Given the description of an element on the screen output the (x, y) to click on. 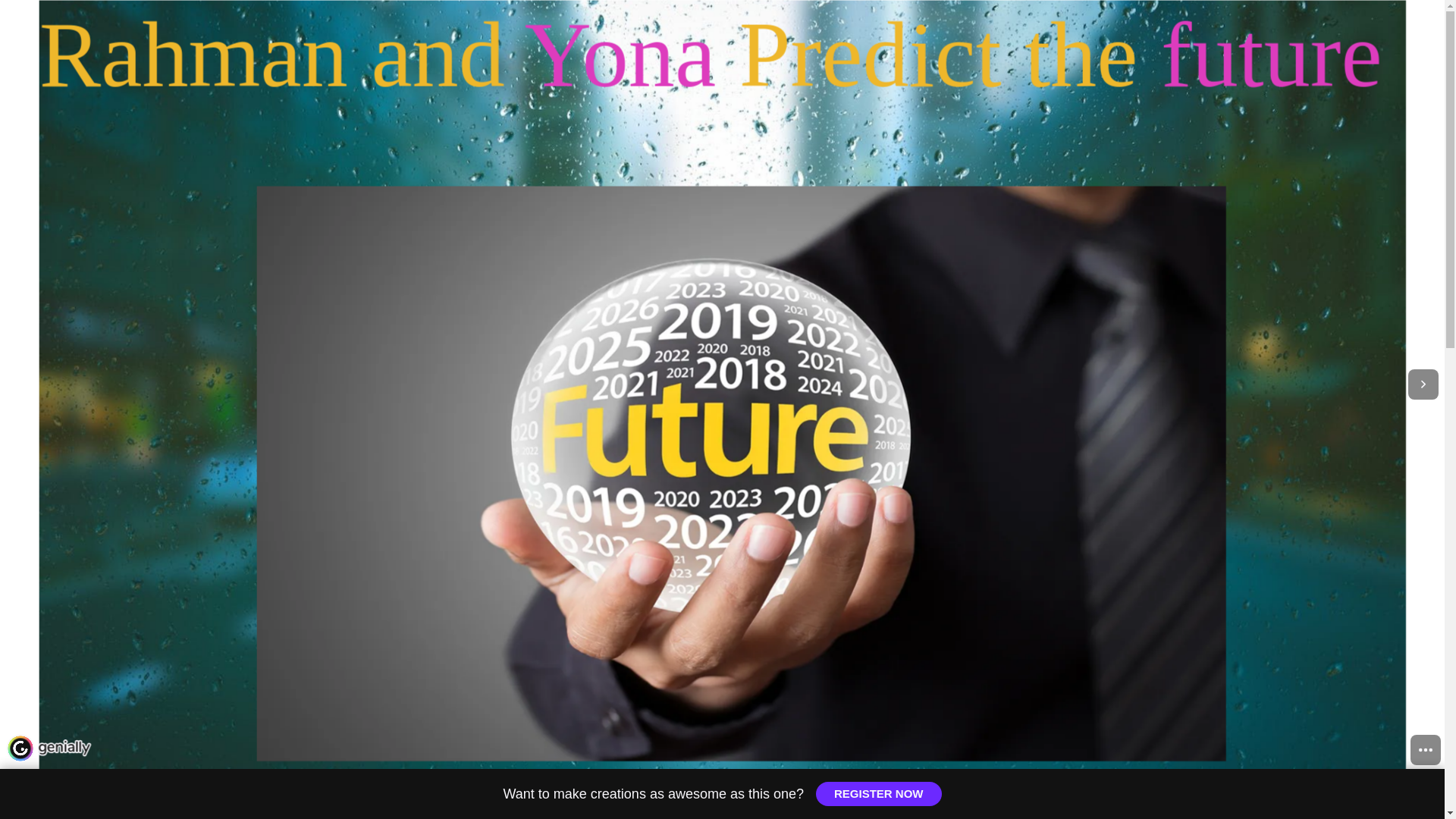
REGISTER NOW (878, 793)
Genially home page (49, 748)
